Given the description of an element on the screen output the (x, y) to click on. 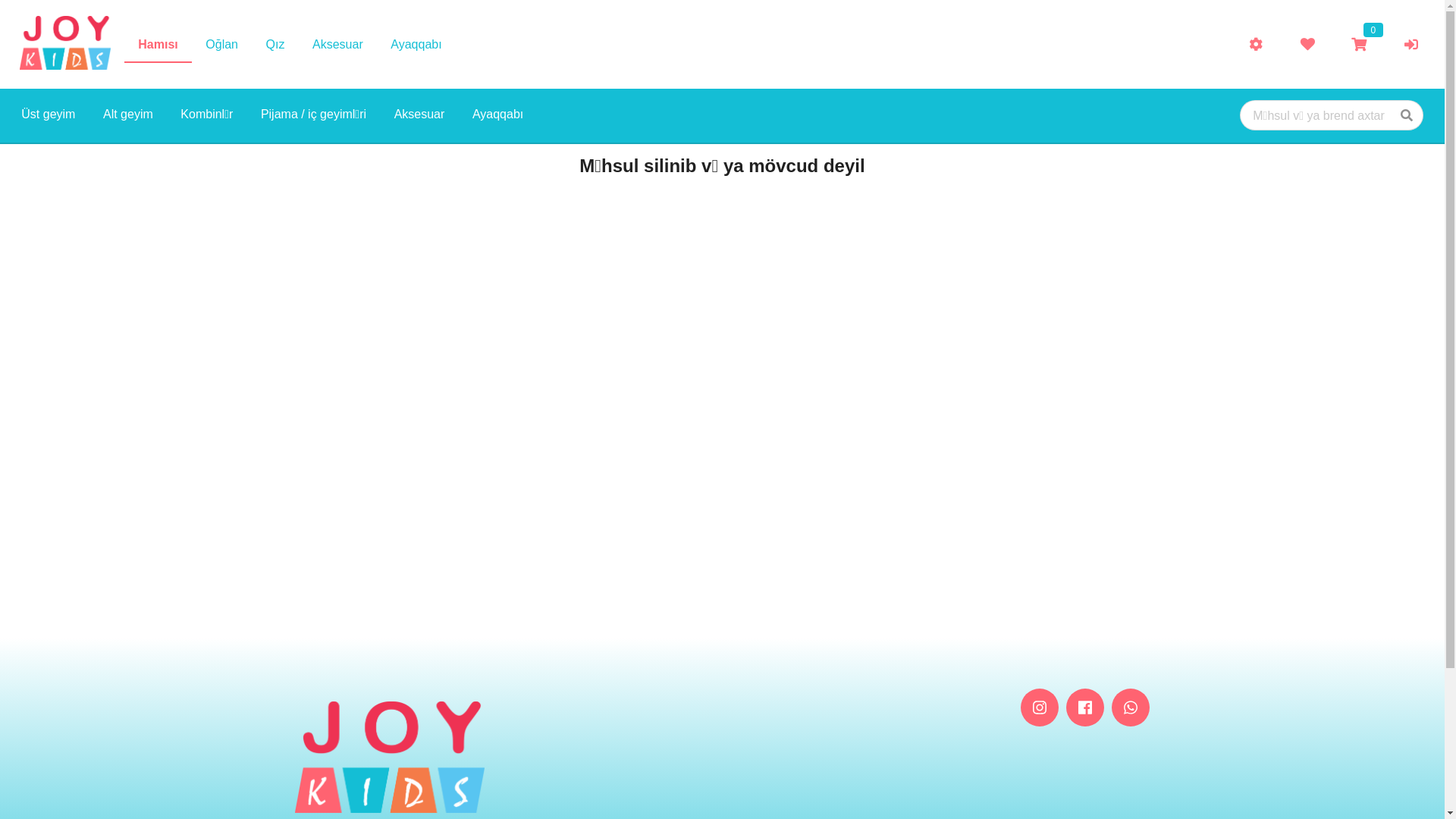
0 Element type: text (1358, 43)
Aksesuar Element type: text (337, 45)
Alt geyim Element type: text (127, 115)
Aksesuar Element type: text (418, 115)
